Given the description of an element on the screen output the (x, y) to click on. 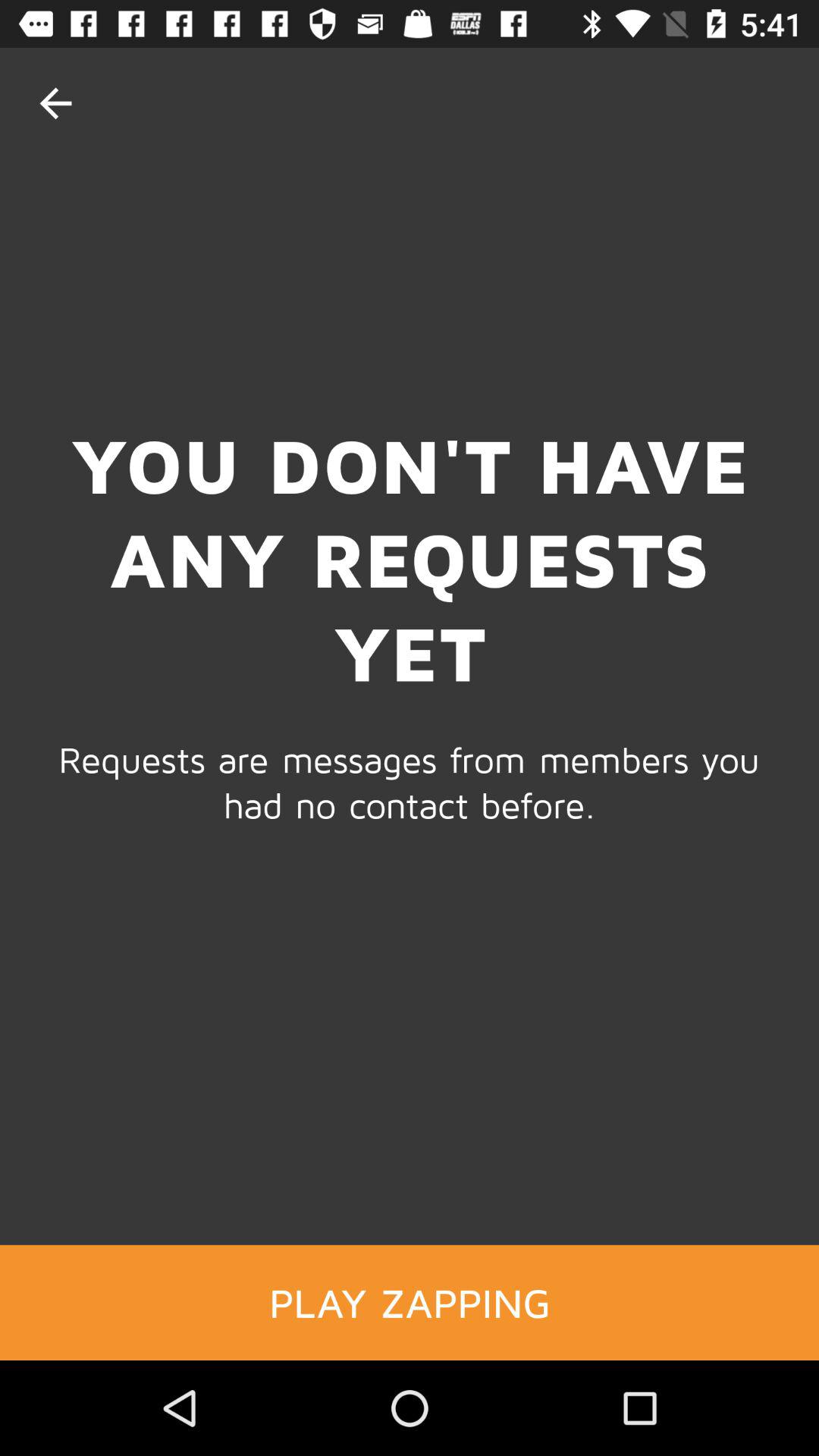
choose item above you don t icon (55, 103)
